Given the description of an element on the screen output the (x, y) to click on. 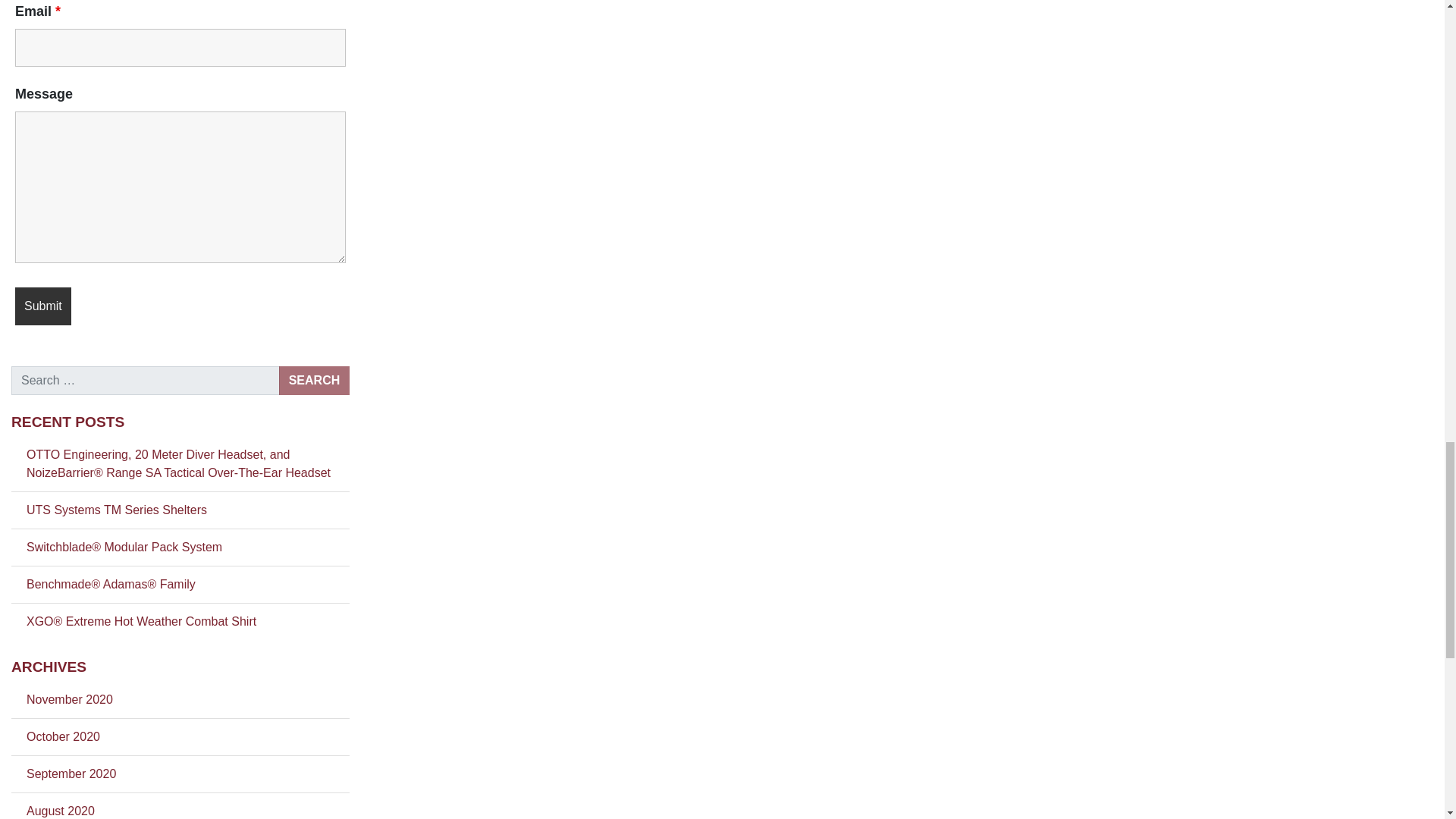
Submit (42, 306)
